Given the description of an element on the screen output the (x, y) to click on. 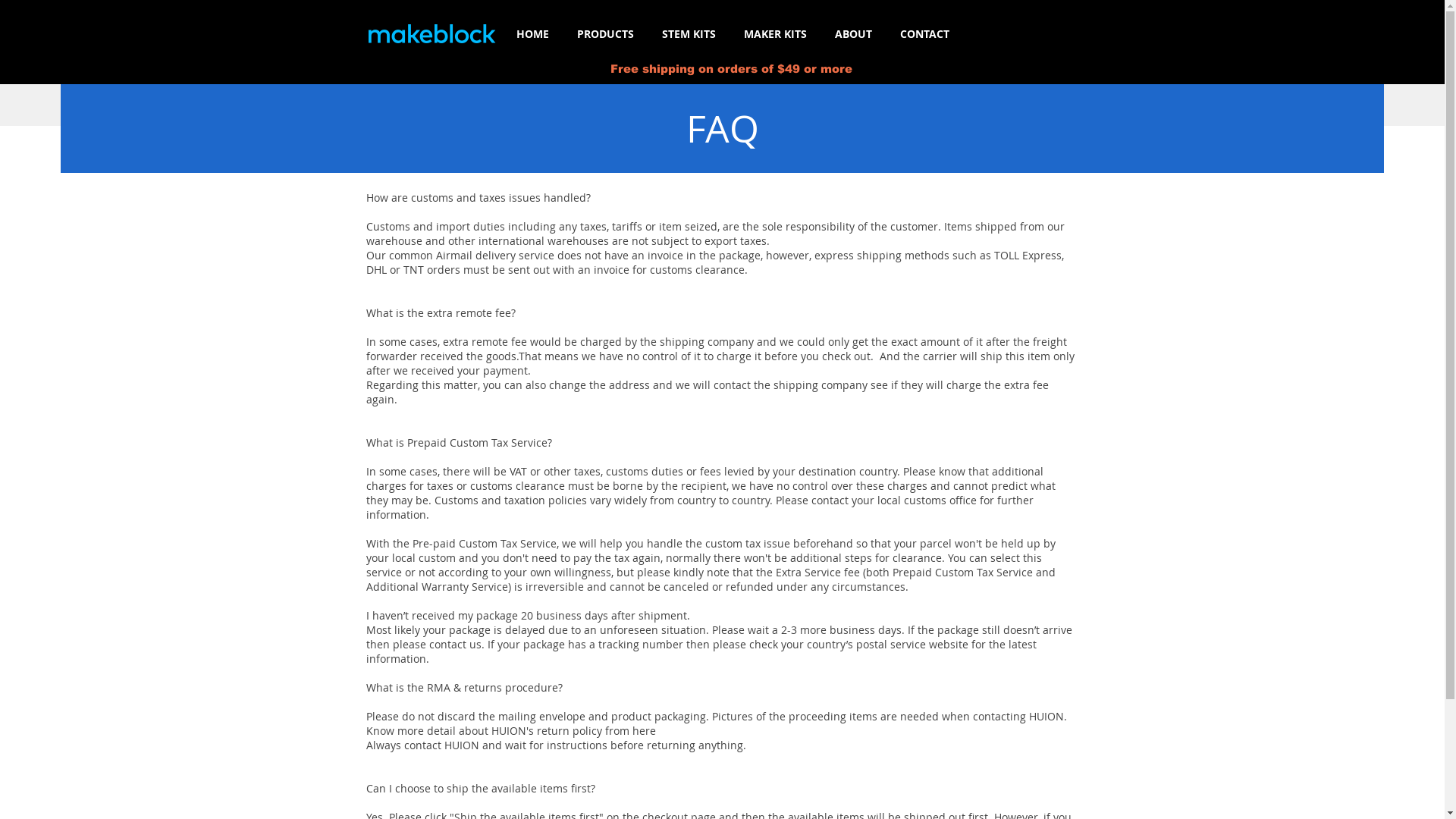
MAKER KITS Element type: text (774, 33)
HOME Element type: text (532, 33)
STEM KITS Element type: text (688, 33)
Free shipping on orders of $49 or more Element type: text (730, 68)
CONTACT Element type: text (924, 33)
ABOUT Element type: text (852, 33)
Site Search Element type: hover (1029, 33)
PRODUCTS Element type: text (604, 33)
